Given the description of an element on the screen output the (x, y) to click on. 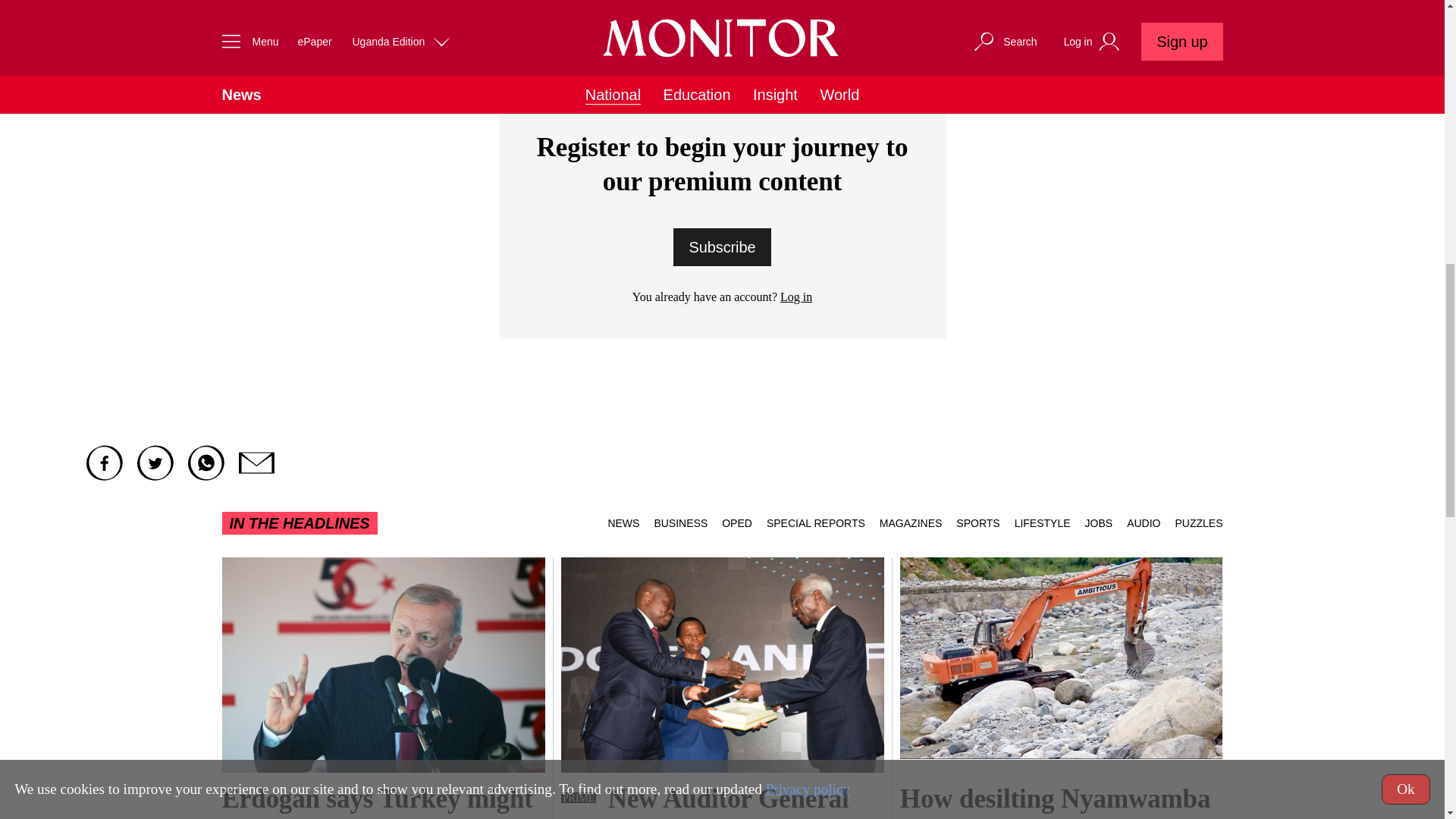
PRIME (577, 797)
